Given the description of an element on the screen output the (x, y) to click on. 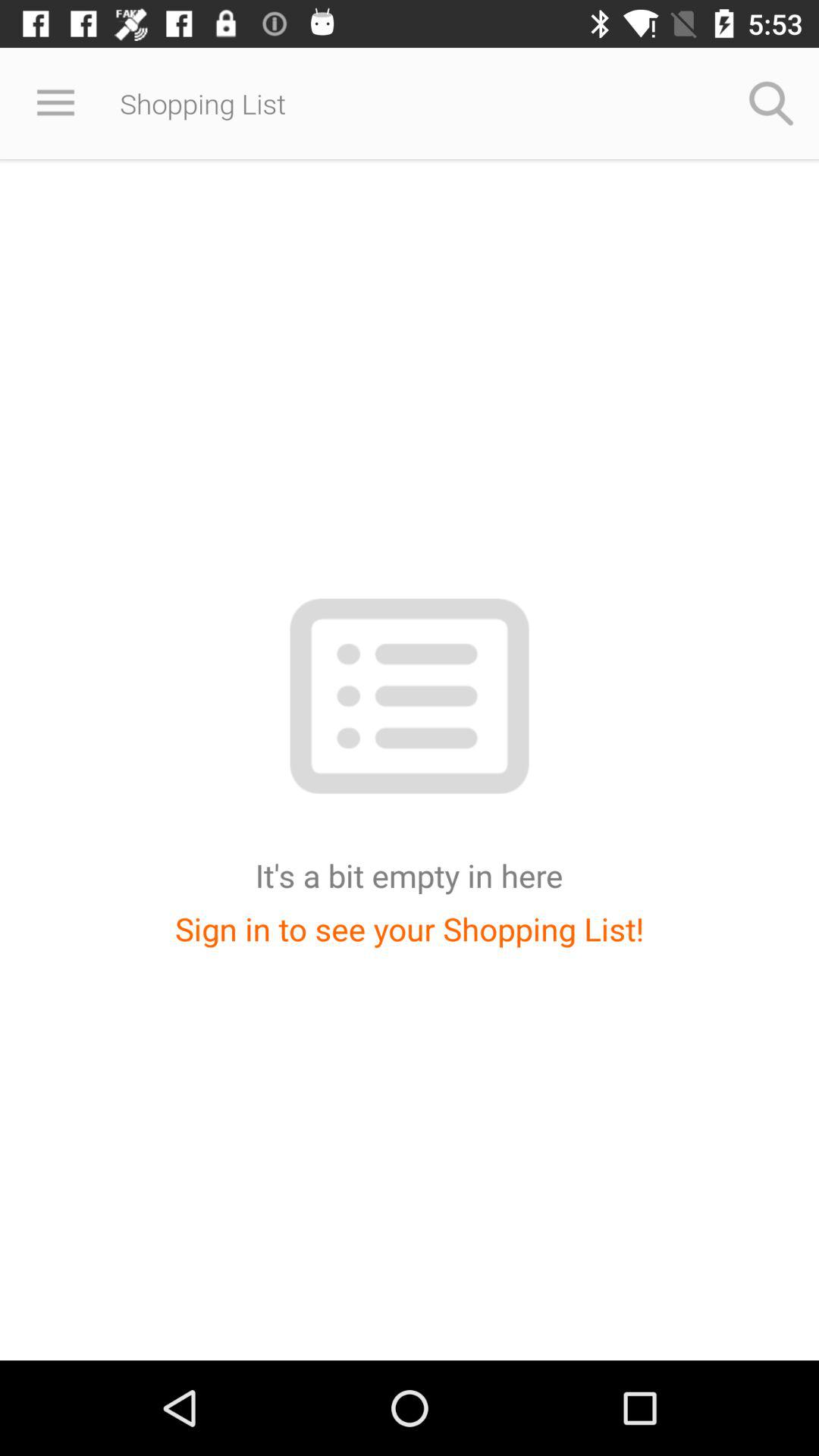
press the item to the right of the shopping list icon (771, 103)
